Given the description of an element on the screen output the (x, y) to click on. 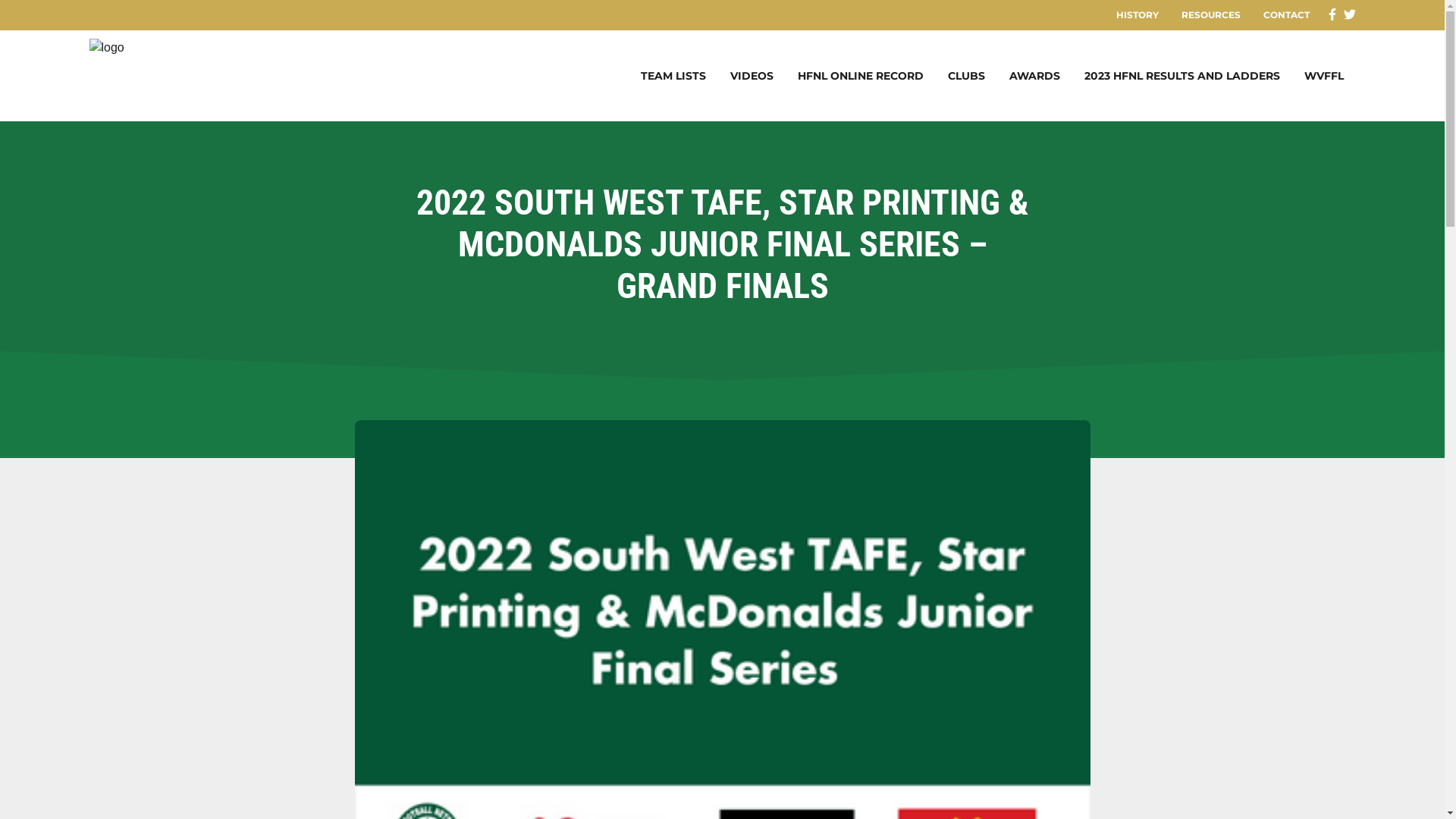
CONTACT Element type: text (1285, 15)
VIDEOS Element type: text (750, 75)
AWARDS Element type: text (1033, 75)
HFNL ONLINE RECORD Element type: text (860, 75)
2023 HFNL RESULTS AND LADDERS Element type: text (1182, 75)
TEAM LISTS Element type: text (672, 75)
CLUBS Element type: text (966, 75)
HISTORY Element type: text (1136, 15)
WVFFL Element type: text (1323, 75)
RESOURCES Element type: text (1210, 15)
